Given the description of an element on the screen output the (x, y) to click on. 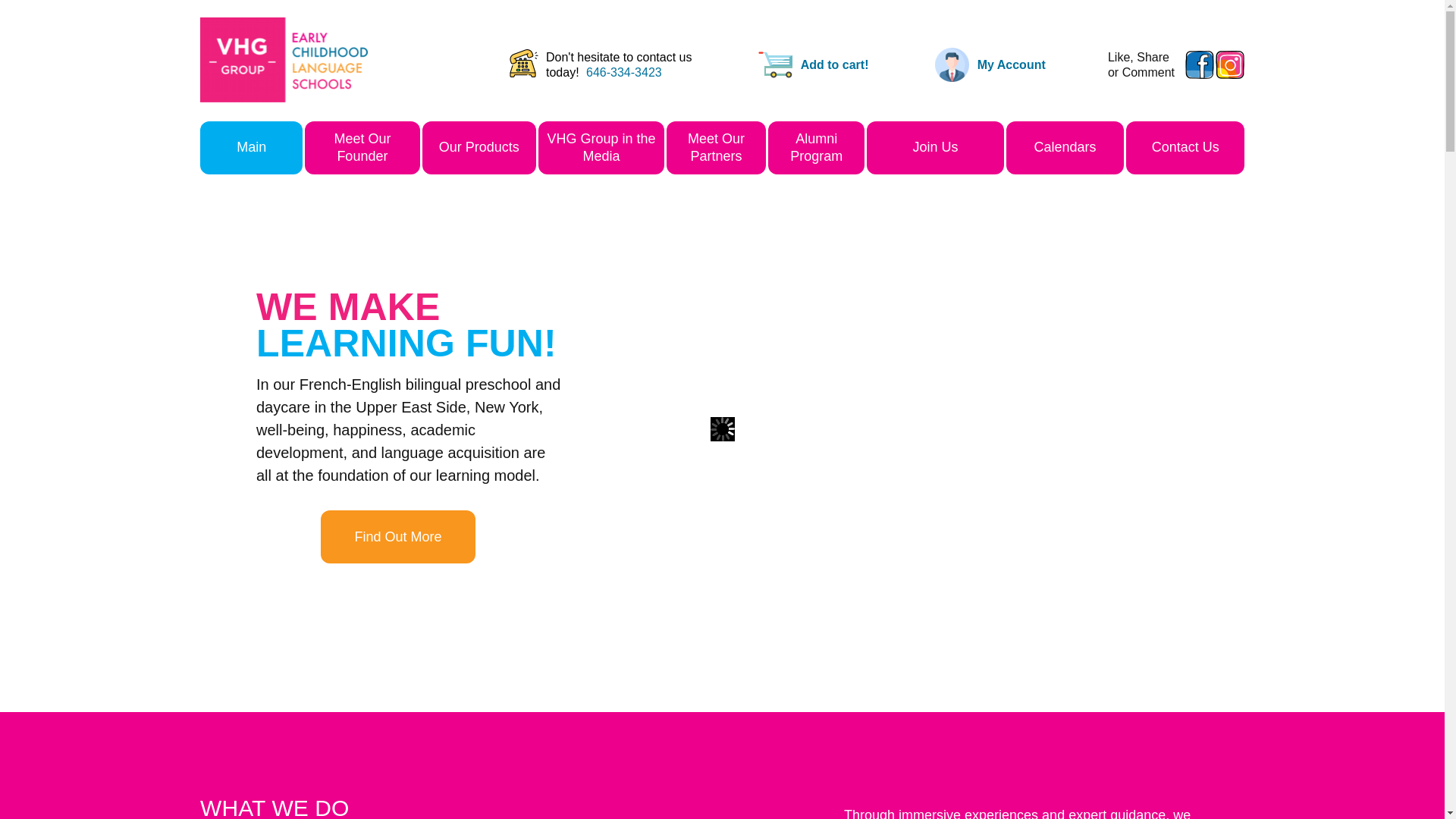
My Account (1010, 64)
Alumni Program (816, 147)
Meet Our Founder (361, 147)
Add to cart! (834, 64)
Meet Our Partners (715, 147)
Our Products (478, 147)
Join Us (934, 147)
Contact Us (1184, 147)
VHG Group in the Media (600, 147)
Main (251, 147)
